Given the description of an element on the screen output the (x, y) to click on. 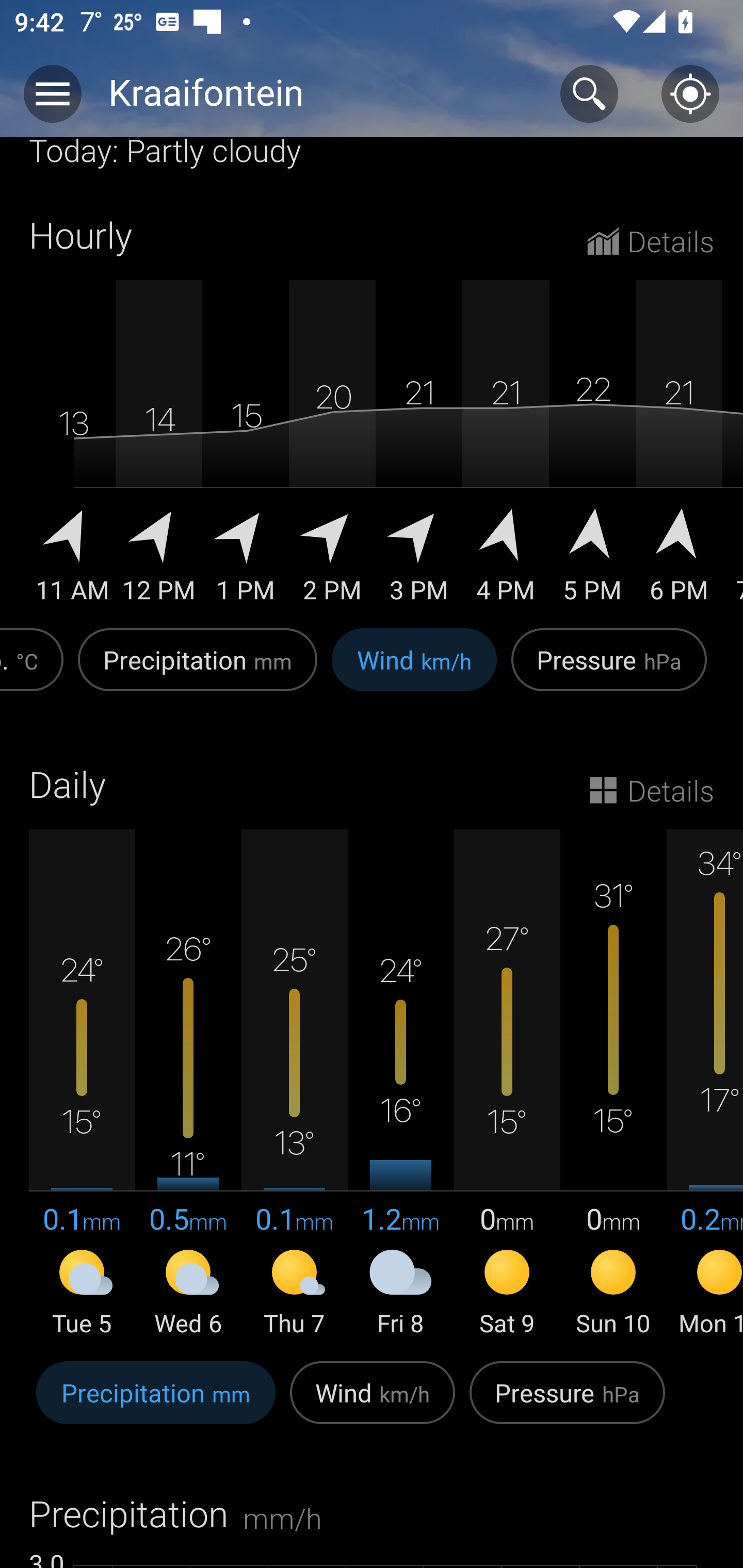
 11 AM (71, 558)
 12 PM (158, 558)
 1 PM (245, 558)
 2 PM (332, 558)
 3 PM (418, 558)
 4 PM (505, 558)
 5 PM (592, 558)
 6 PM (679, 558)
Temp. °C (35, 669)
Precipitation mm (197, 669)
Wind km/h (413, 669)
Pressure hPa (608, 669)
24° 15° 0.1 mm Tue 5 (81, 1084)
26° 11° 0.5 mm Wed 6 (188, 1084)
25° 13° 0.1 mm Thu 7 (294, 1084)
24° 16° 1.2 mm Fri 8 (400, 1084)
27° 15° 0 mm Sat 9 (506, 1084)
31° 15° 0 mm Sun 10 (613, 1084)
34° 17° 0.2 mm Mon 11 (704, 1084)
Precipitation mm (155, 1403)
Wind km/h (372, 1403)
Pressure hPa (567, 1403)
